Given the description of an element on the screen output the (x, y) to click on. 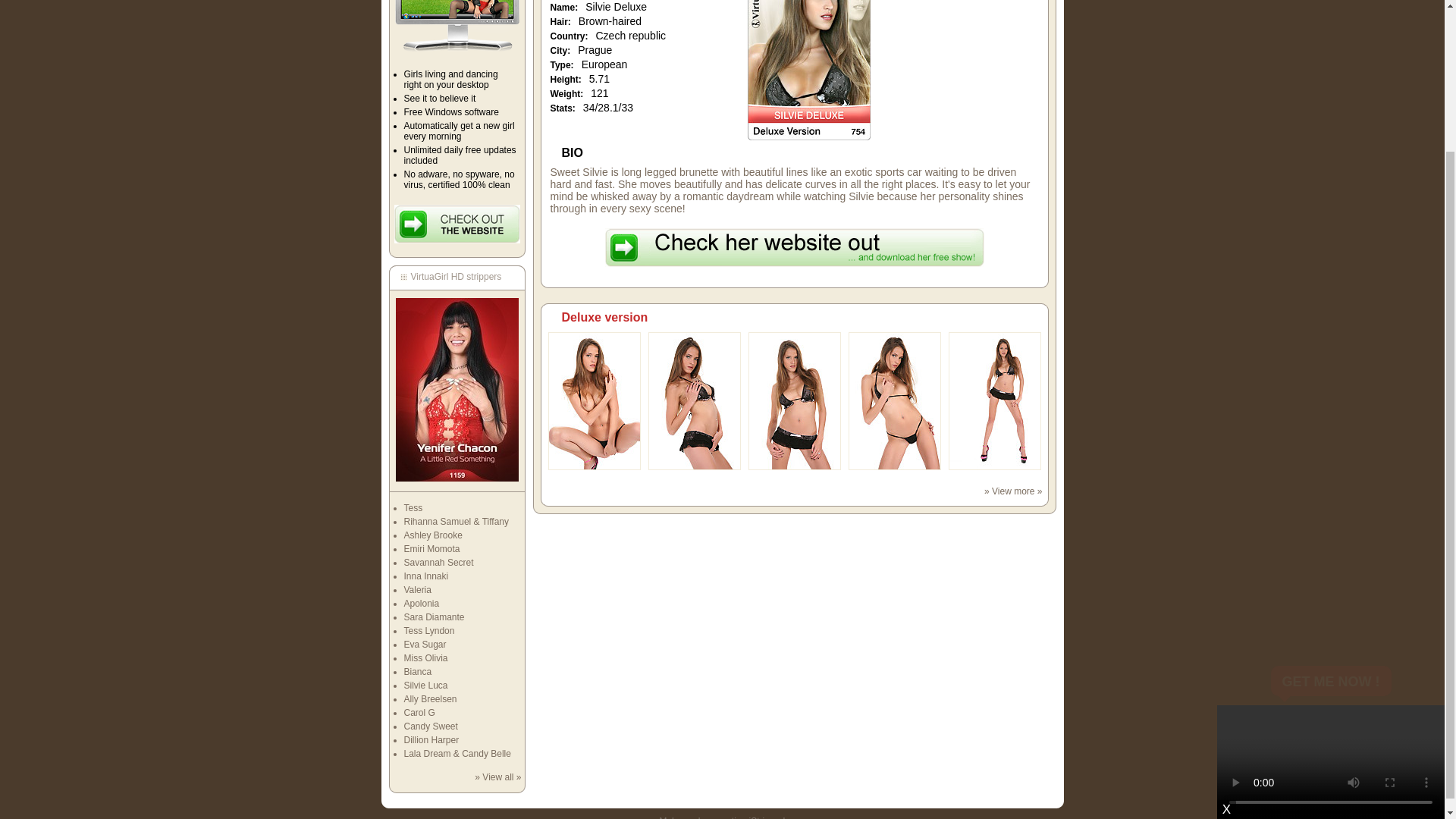
Silvie Deluxe - Deluxe version - 1 (593, 466)
Eva Sugar (424, 644)
Silvie Deluxe - Deluxe version - 2 (693, 466)
Tess Lyndon (428, 630)
Sara Diamante (433, 616)
Apolonia (421, 603)
Deluxe version (603, 317)
Ashley Brooke (432, 534)
Silvie Luca (424, 685)
Bianca (416, 671)
Candy Sweet (430, 726)
Inna Innaki (425, 575)
Miss Olivia (424, 657)
Silvie Deluxe - Deluxe version - 5 (994, 466)
Ally Breelsen (430, 698)
